Given the description of an element on the screen output the (x, y) to click on. 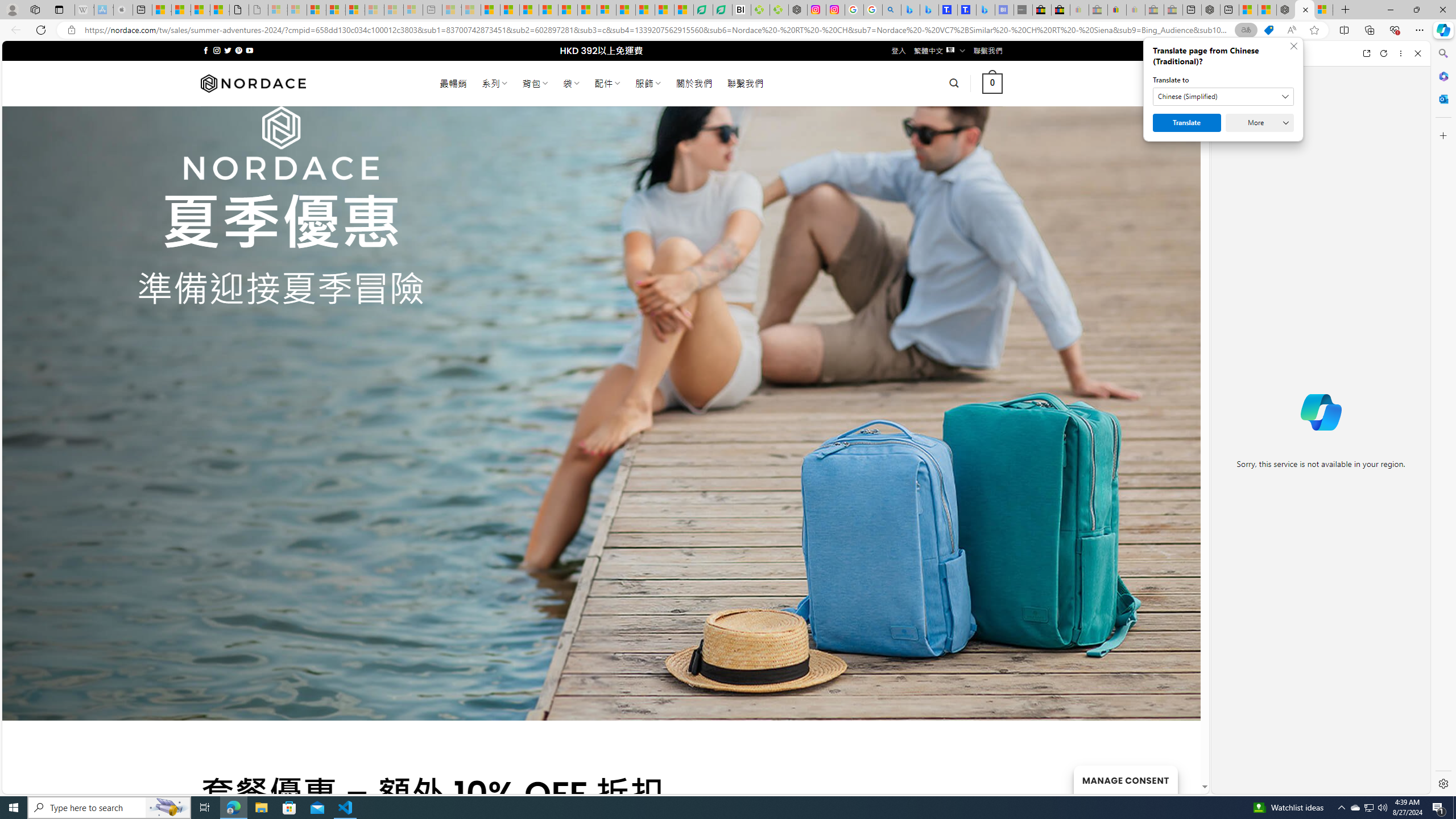
Sign in to your Microsoft account (1323, 9)
Shangri-La Bangkok, Hotel reviews and Room rates (966, 9)
Microsoft Bing Travel - Flights from Hong Kong to Bangkok (910, 9)
Microsoft Bing Travel - Shangri-La Hotel Bangkok (985, 9)
MANAGE CONSENT (1125, 779)
Follow on Instagram (216, 50)
Top Stories - MSN - Sleeping (450, 9)
